Given the description of an element on the screen output the (x, y) to click on. 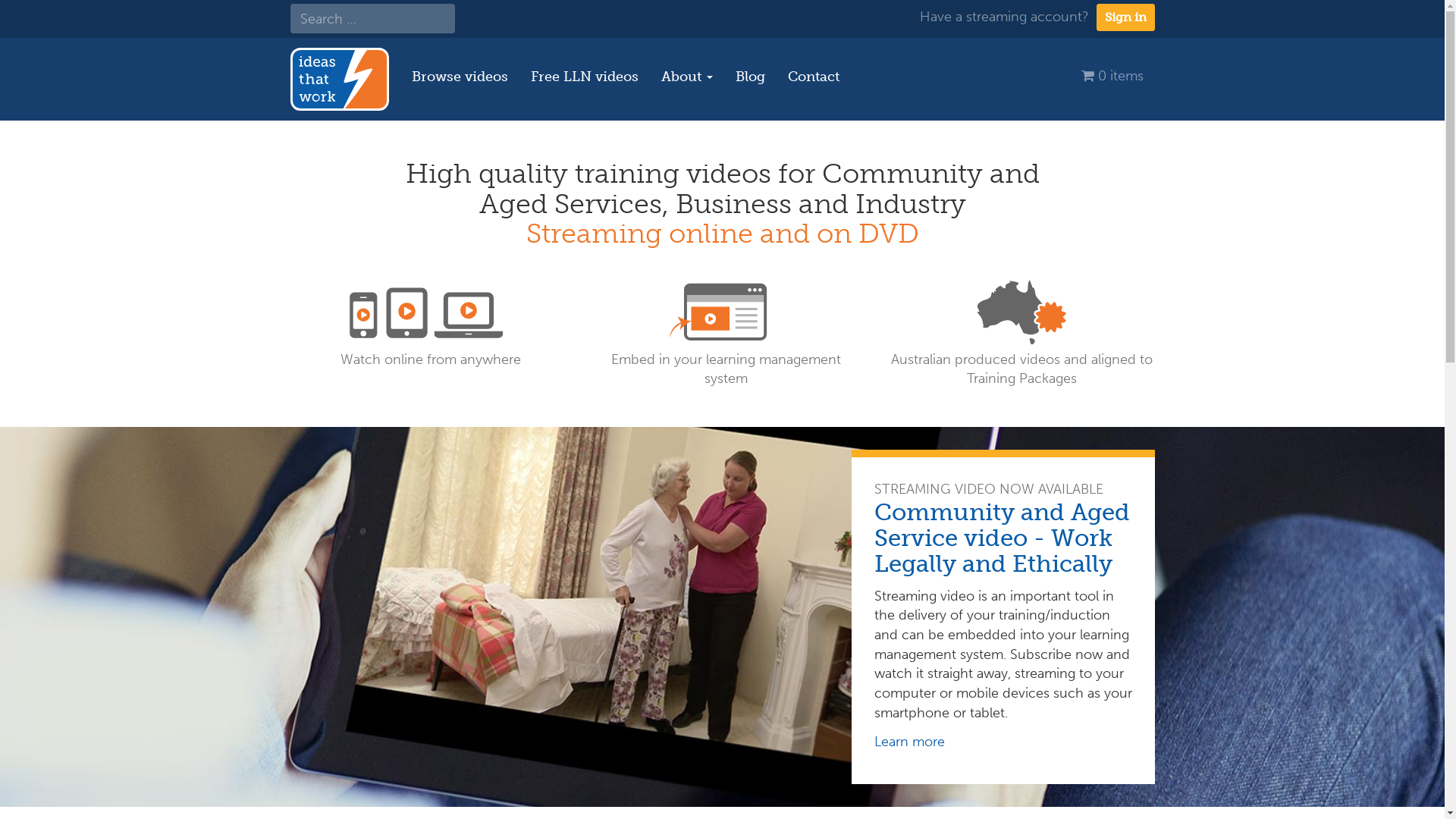
Browse videos Element type: text (459, 76)
Free LLN videos Element type: text (583, 76)
Learn more Element type: text (908, 741)
Blog Element type: text (749, 76)
About Element type: text (686, 76)
Search Element type: text (31, 15)
0 items Element type: text (1112, 75)
Sign in Element type: text (1125, 17)
Contact Element type: text (813, 76)
